Given the description of an element on the screen output the (x, y) to click on. 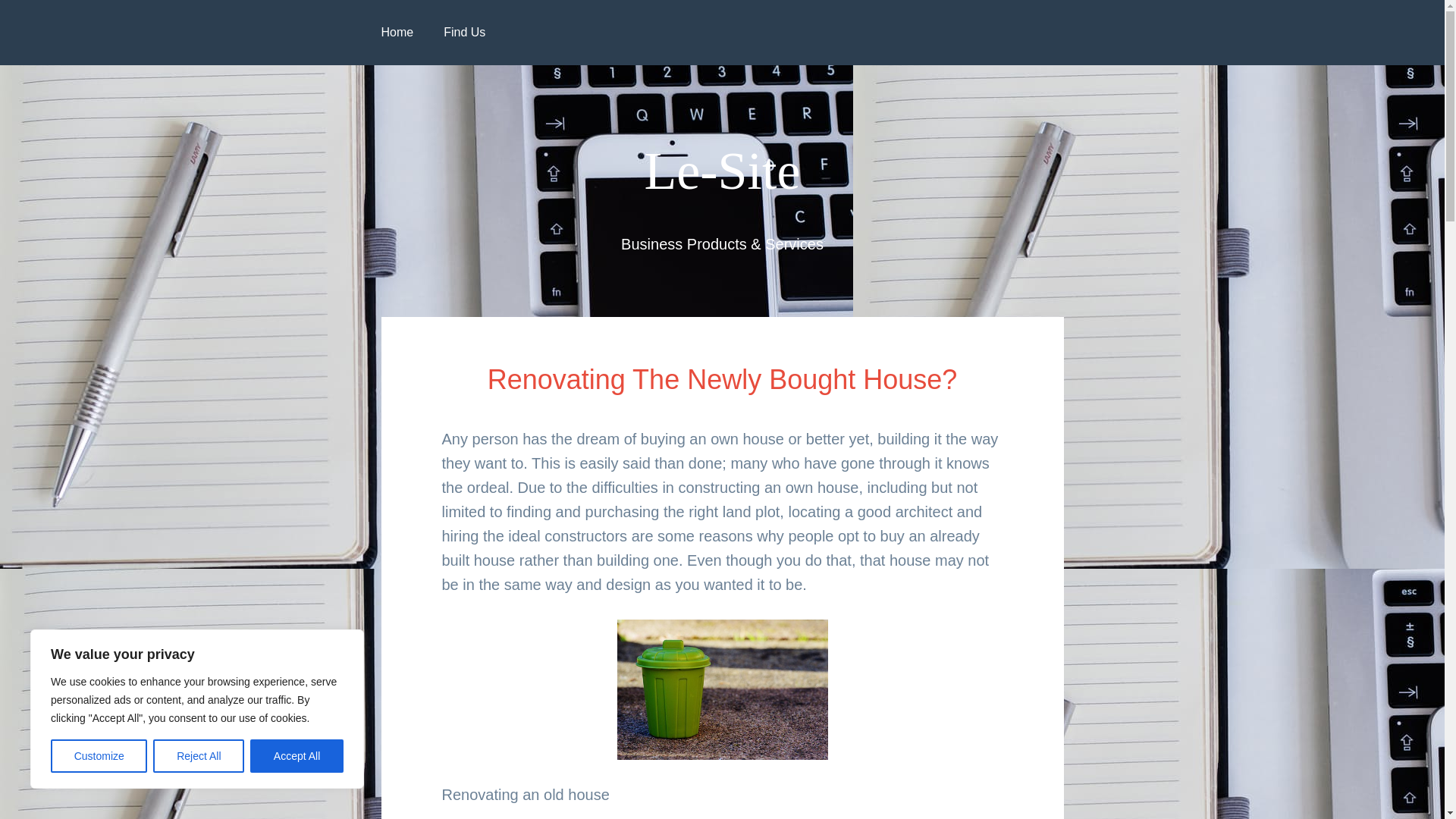
Accept All (296, 756)
Customize (98, 756)
Le-Site (721, 170)
Reject All (198, 756)
